Given the description of an element on the screen output the (x, y) to click on. 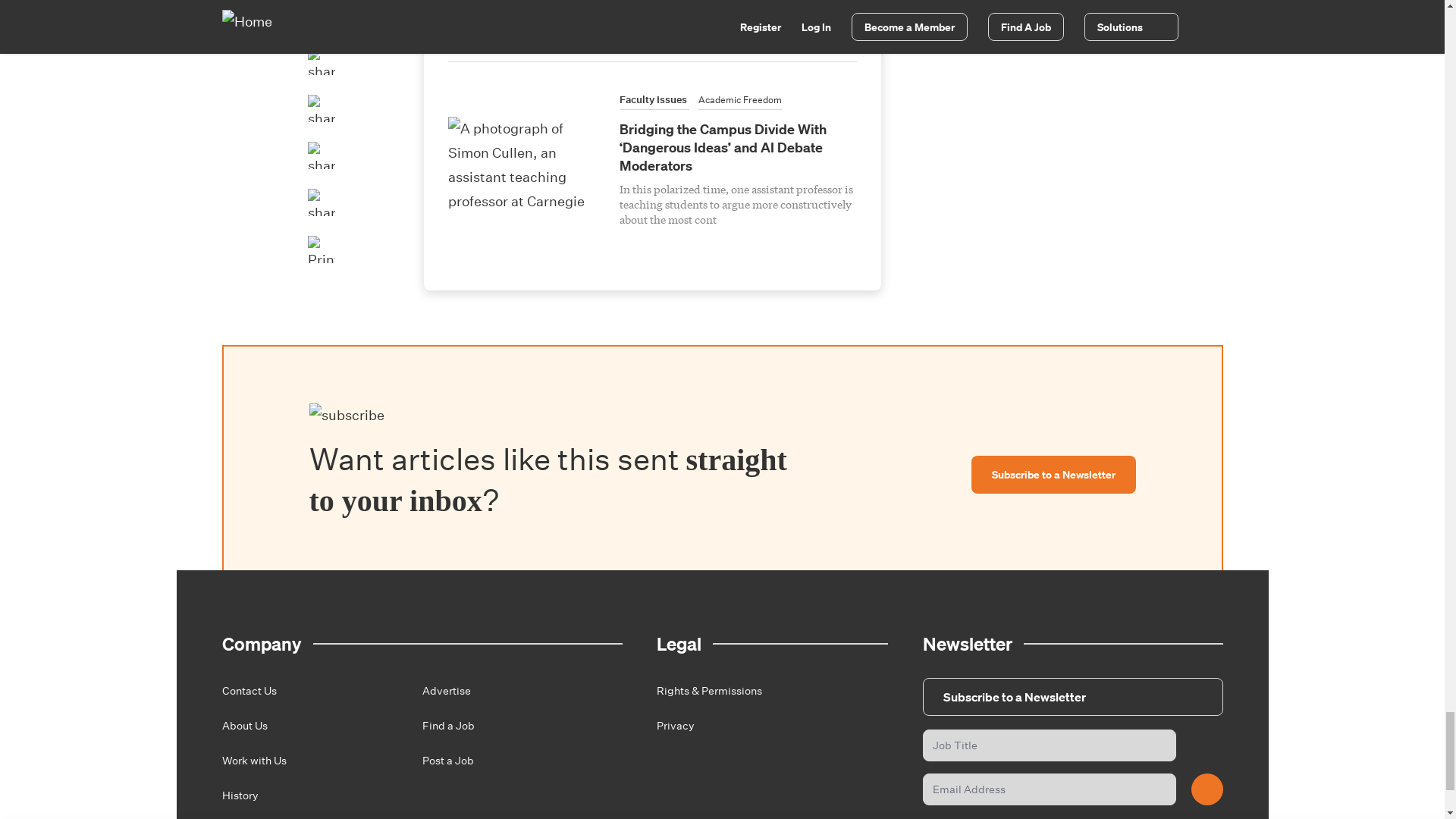
Submit (1207, 789)
